Given the description of an element on the screen output the (x, y) to click on. 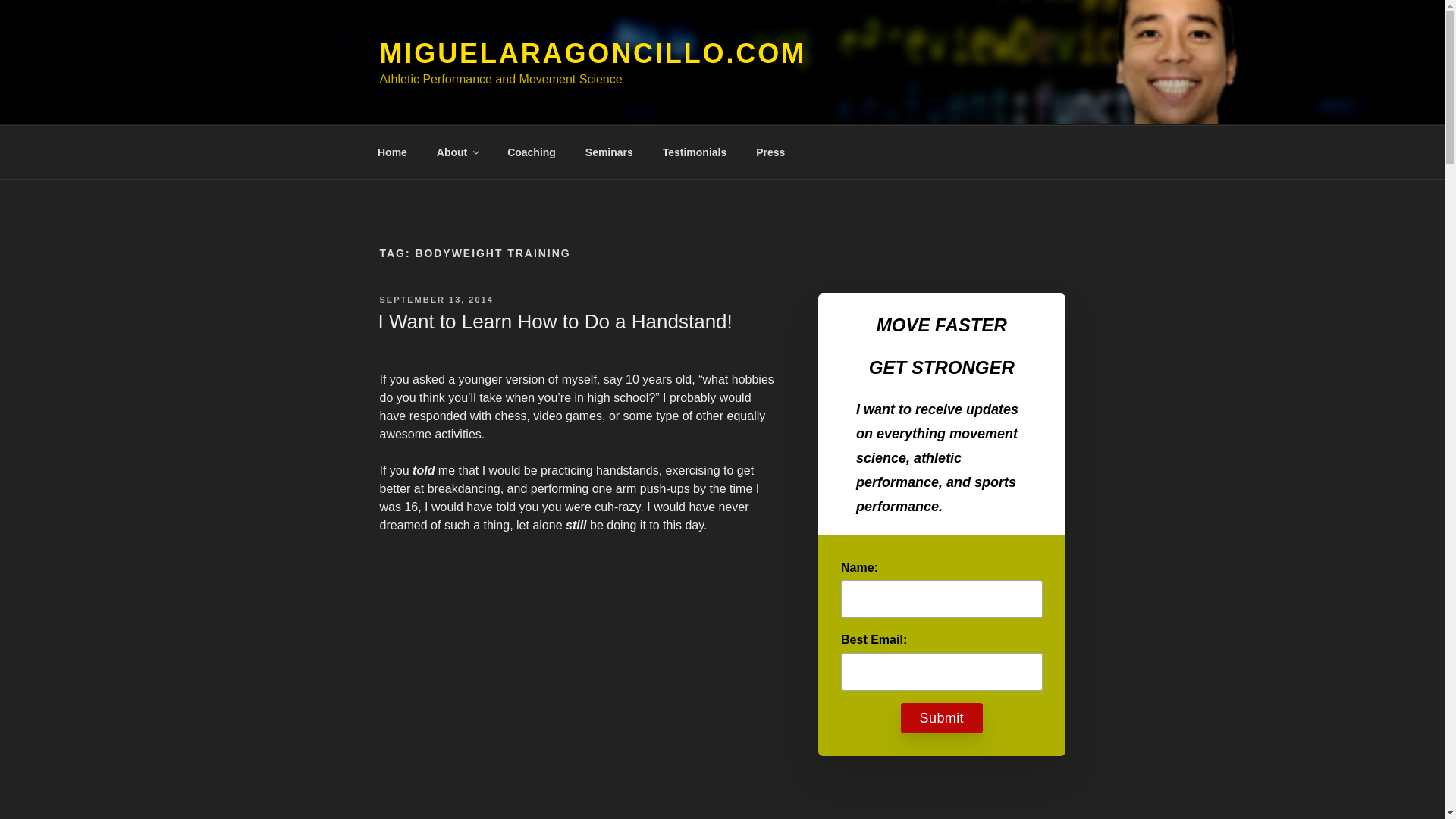
MIGUELARAGONCILLO.COM (591, 52)
Home (392, 151)
About (456, 151)
Press (769, 151)
Submit (941, 717)
Seminars (609, 151)
Submit (941, 717)
Coaching (532, 151)
Testimonials (694, 151)
SEPTEMBER 13, 2014 (435, 298)
I Want to Learn How to Do a Handstand! (554, 321)
